Given the description of an element on the screen output the (x, y) to click on. 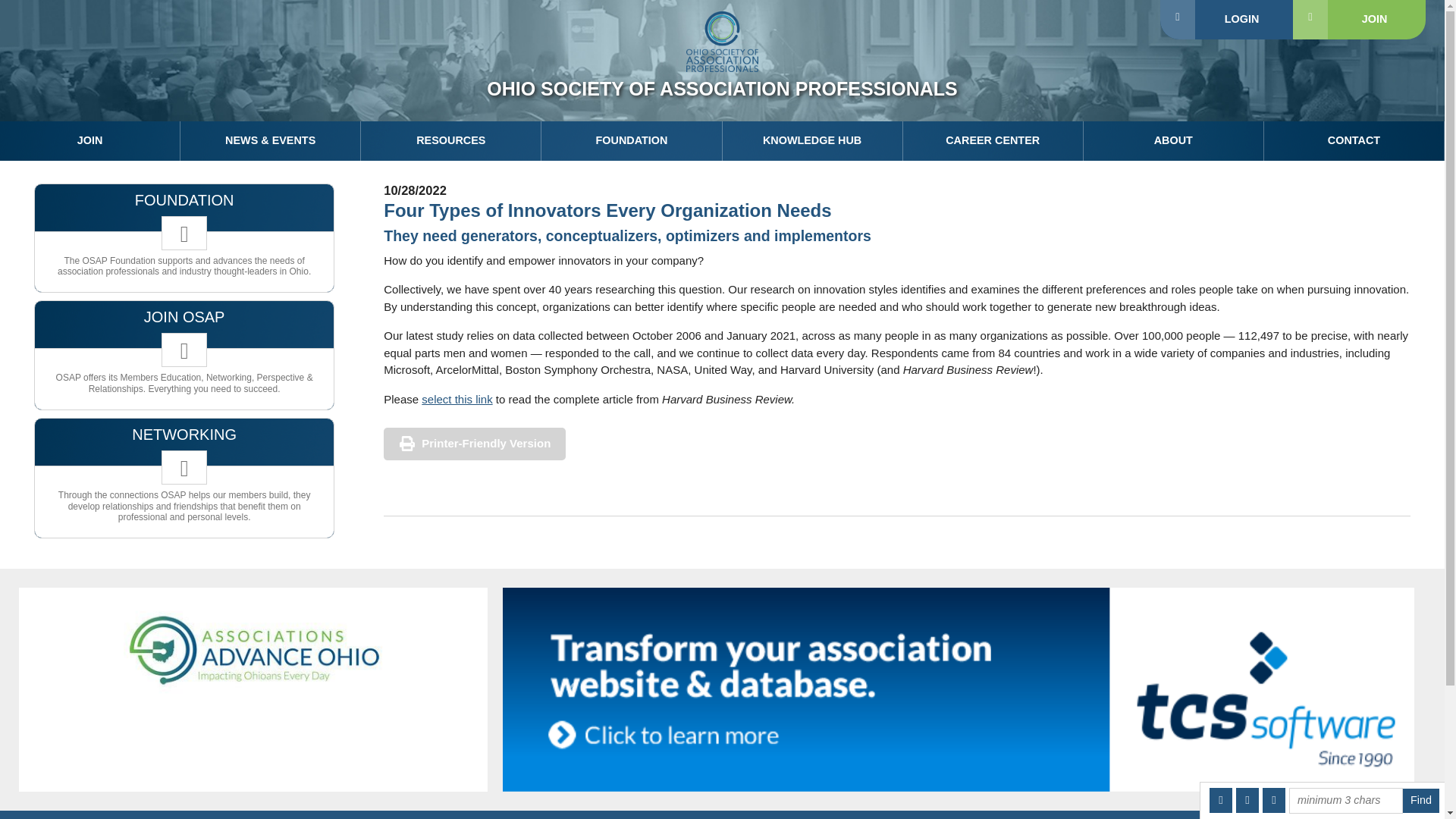
LOGIN (1226, 19)
RESOURCES (451, 140)
Find (1421, 800)
KNOWLEDGE HUB (812, 140)
FOUNDATION (631, 140)
Find (1421, 800)
ABOUT (1173, 140)
JOIN (1358, 19)
Find (1421, 800)
